Given the description of an element on the screen output the (x, y) to click on. 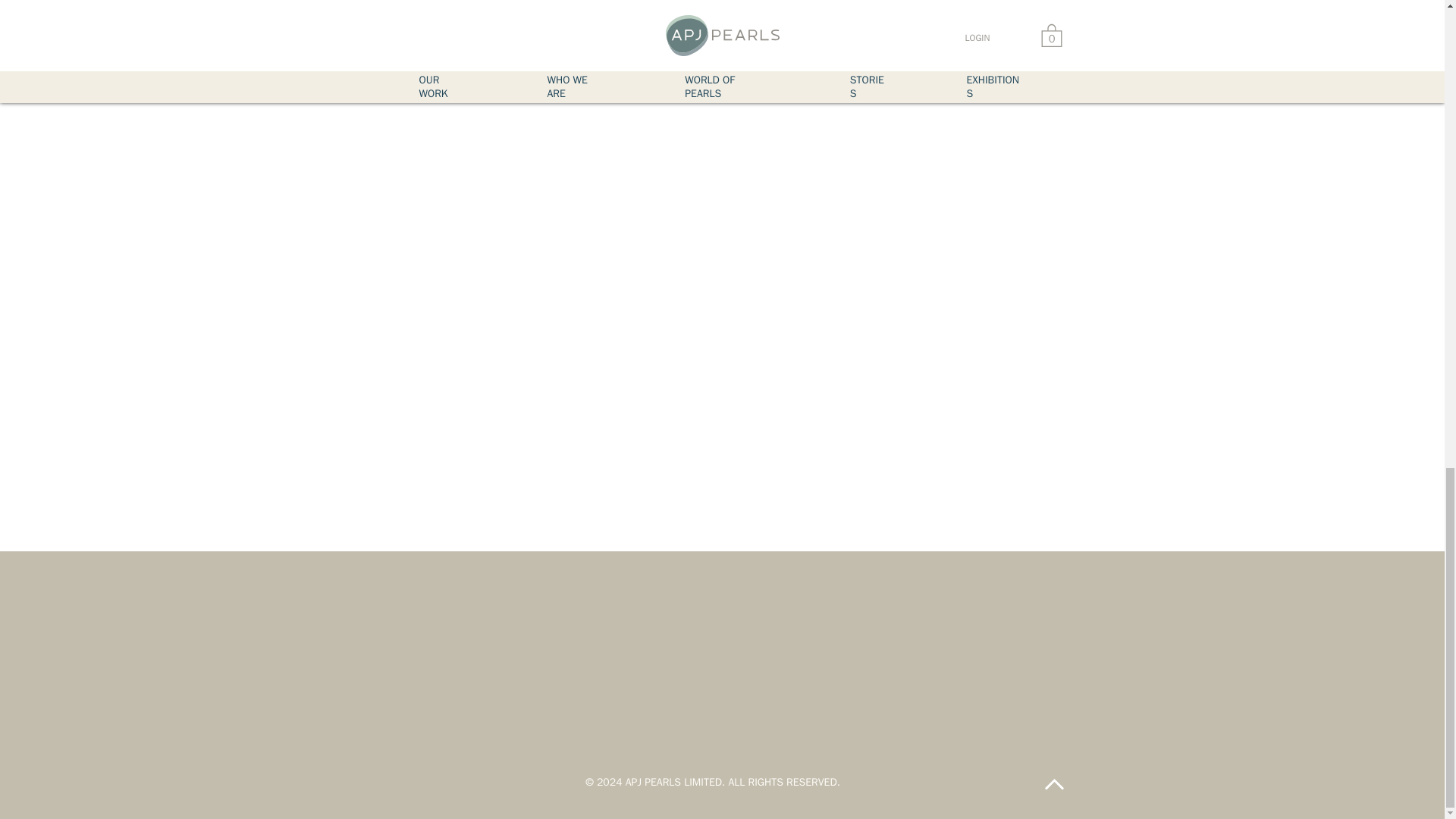
CONTACT US FOR APPOINTMENTS (543, 30)
VIEW OUR EXHIBITION DATES (899, 30)
